Given the description of an element on the screen output the (x, y) to click on. 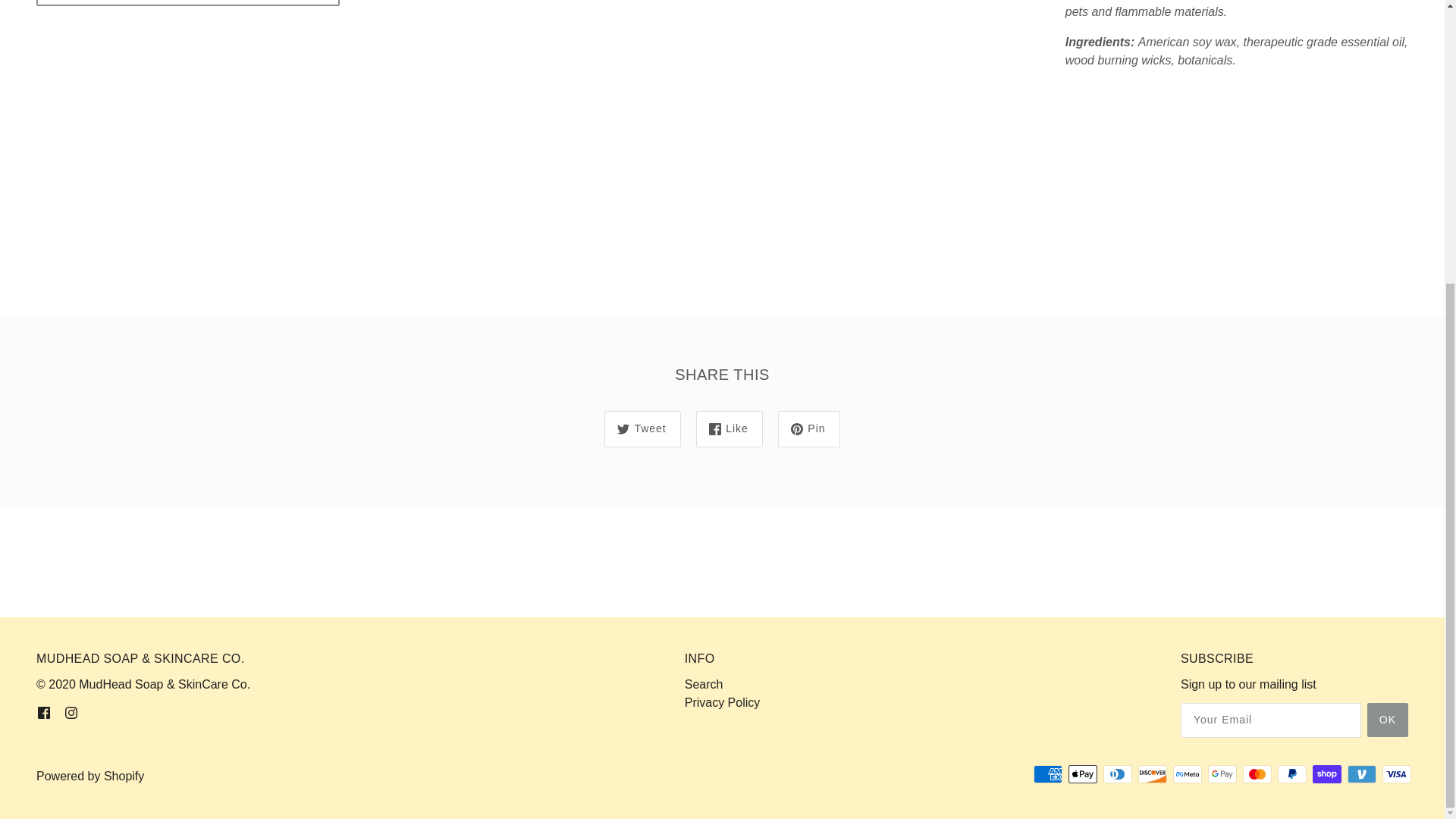
Meta Pay (1187, 773)
Search (703, 684)
Apple Pay (1082, 773)
PayPal (1292, 773)
Mastercard (1257, 773)
Diners Club (1117, 773)
Venmo (1361, 773)
Discover (1152, 773)
Privacy Policy (722, 702)
American Express (1047, 773)
Shop Pay (1326, 773)
Ok (1387, 719)
Google Pay (1222, 773)
